Given the description of an element on the screen output the (x, y) to click on. 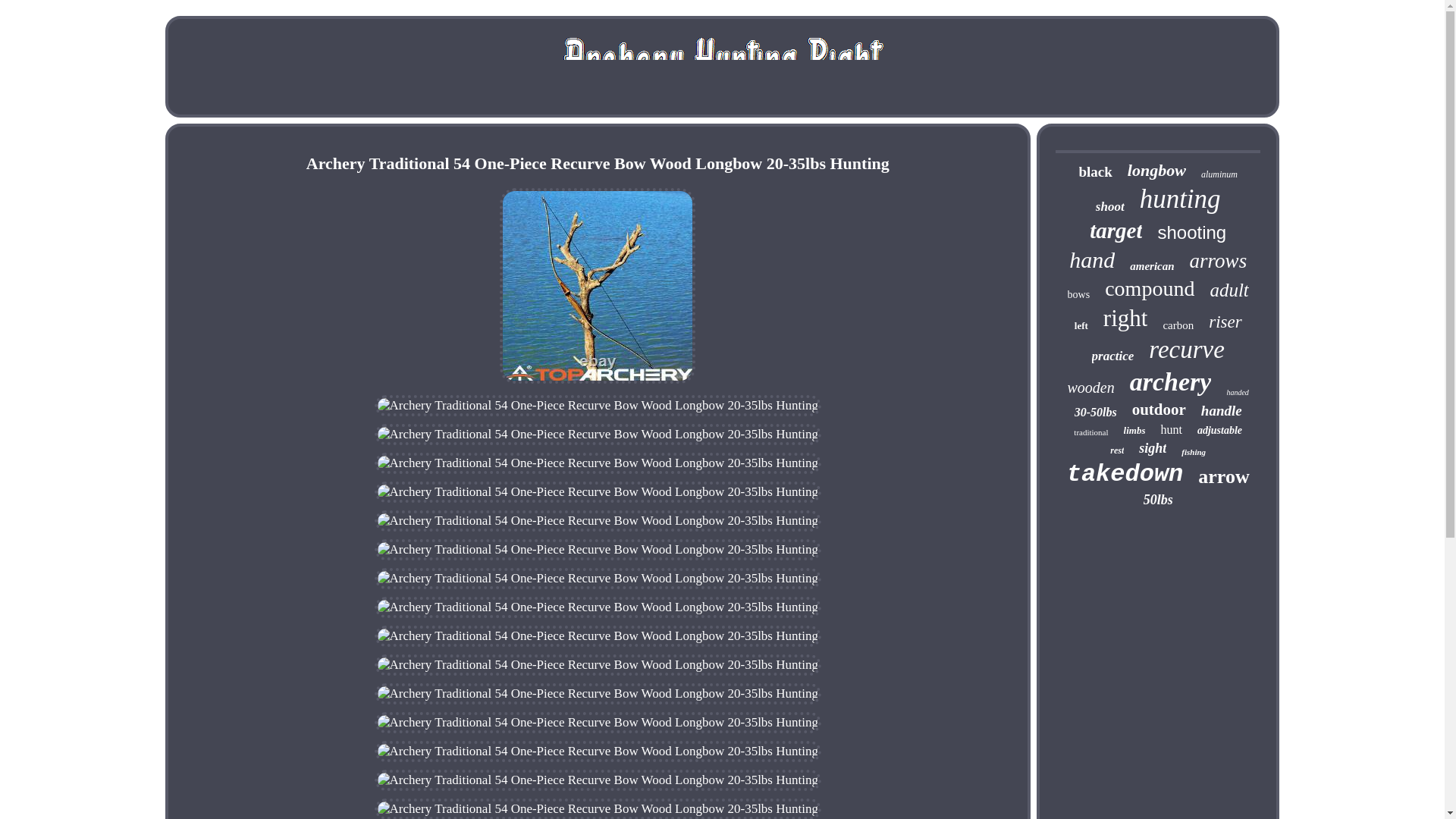
american (1151, 266)
traditional (1091, 431)
shooting (1191, 232)
handle (1221, 410)
riser (1224, 322)
hunting (1180, 199)
wooden (1091, 387)
hand (1091, 259)
